Given the description of an element on the screen output the (x, y) to click on. 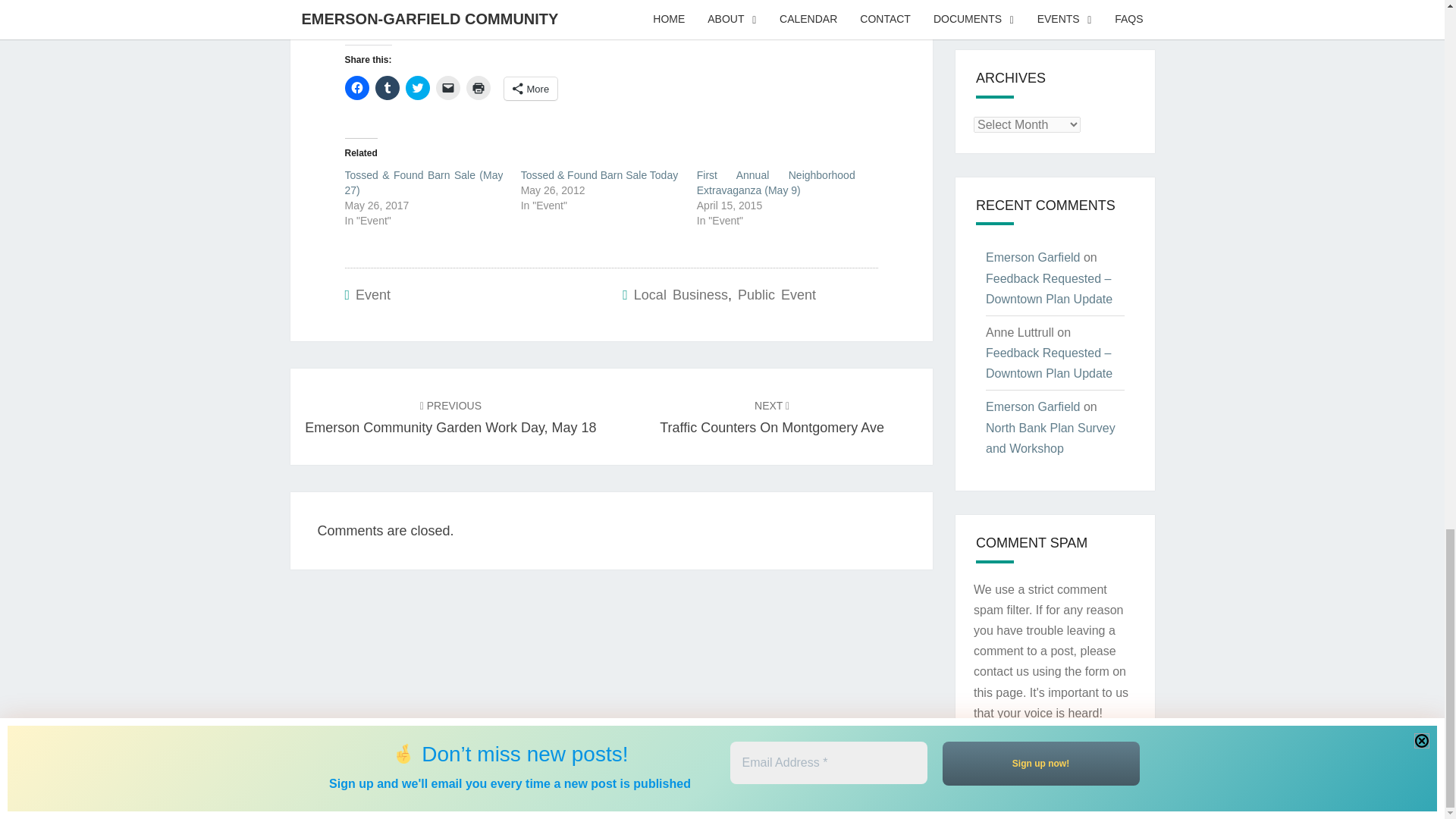
Click to share on Facebook (355, 87)
More (530, 87)
Local Business (680, 294)
Click to share on Twitter (416, 87)
Click to email a link to a friend (447, 87)
Click to share on Tumblr (386, 87)
Event (372, 294)
Click to print (477, 87)
